Given the description of an element on the screen output the (x, y) to click on. 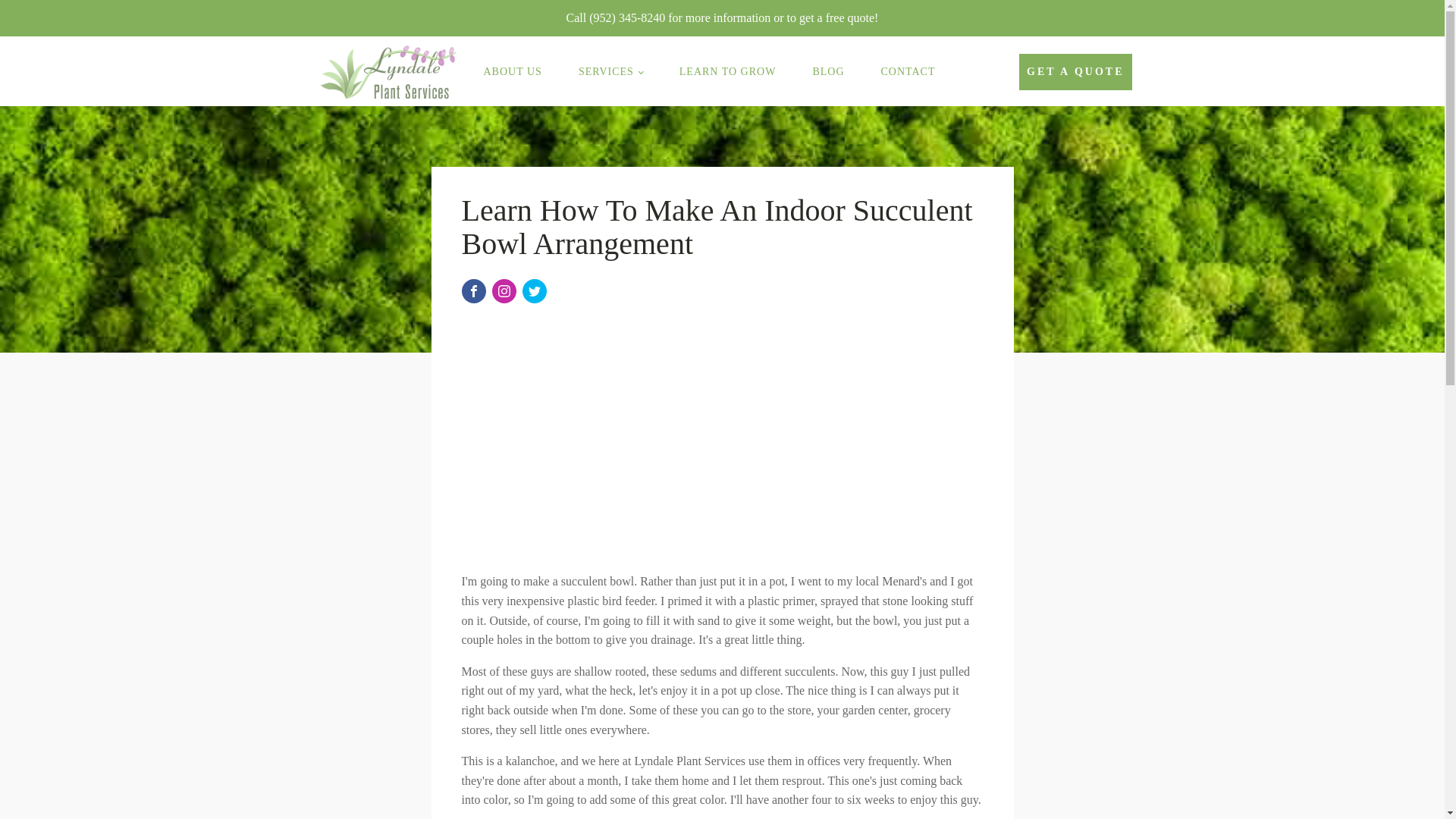
ABOUT US (512, 71)
SERVICES (610, 71)
LEARN TO GROW (727, 71)
CONTACT (908, 71)
BLOG (827, 71)
GET A QUOTE (1075, 72)
